Given the description of an element on the screen output the (x, y) to click on. 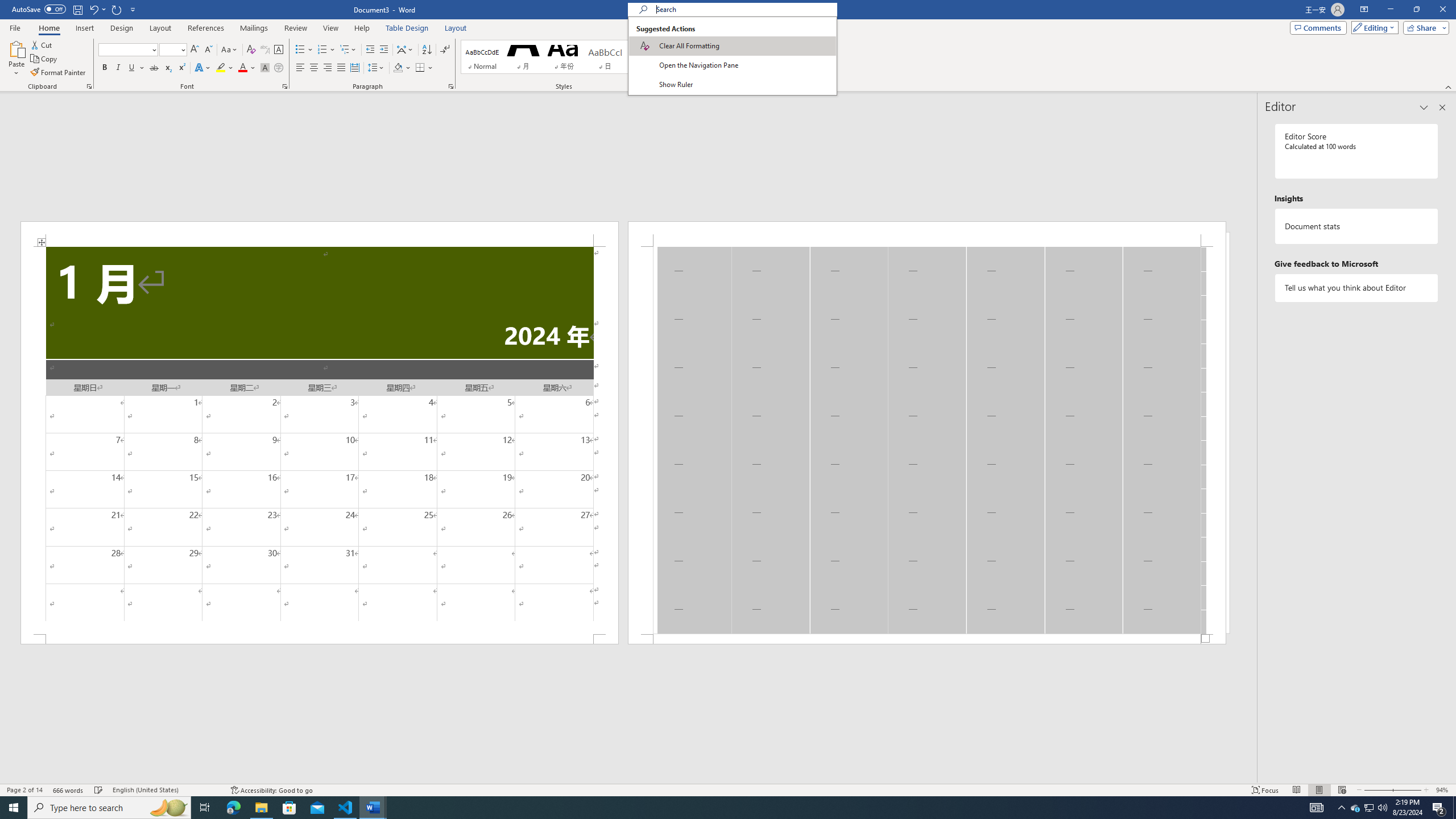
Layout (455, 28)
Insert (83, 28)
Table Design (407, 28)
Font... (285, 85)
Find (700, 44)
Undo Apply Quick Style (92, 9)
Center (313, 67)
Multilevel List (347, 49)
Paste (16, 58)
Save (77, 9)
Document statistics (1356, 226)
Align Right (327, 67)
Spelling and Grammar Check Checking (98, 790)
Zoom In (1407, 790)
Print Layout (1318, 790)
